Given the description of an element on the screen output the (x, y) to click on. 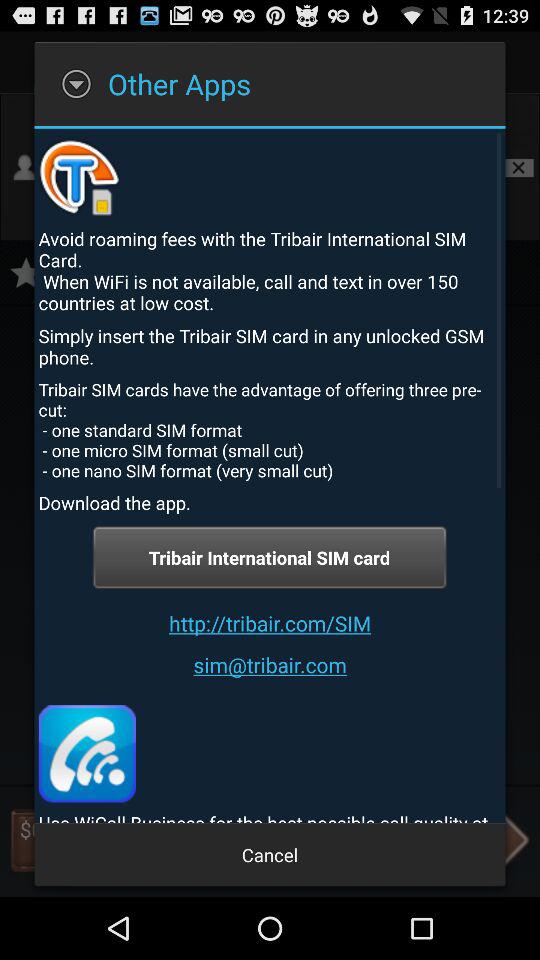
use wifi calling (86, 753)
